Given the description of an element on the screen output the (x, y) to click on. 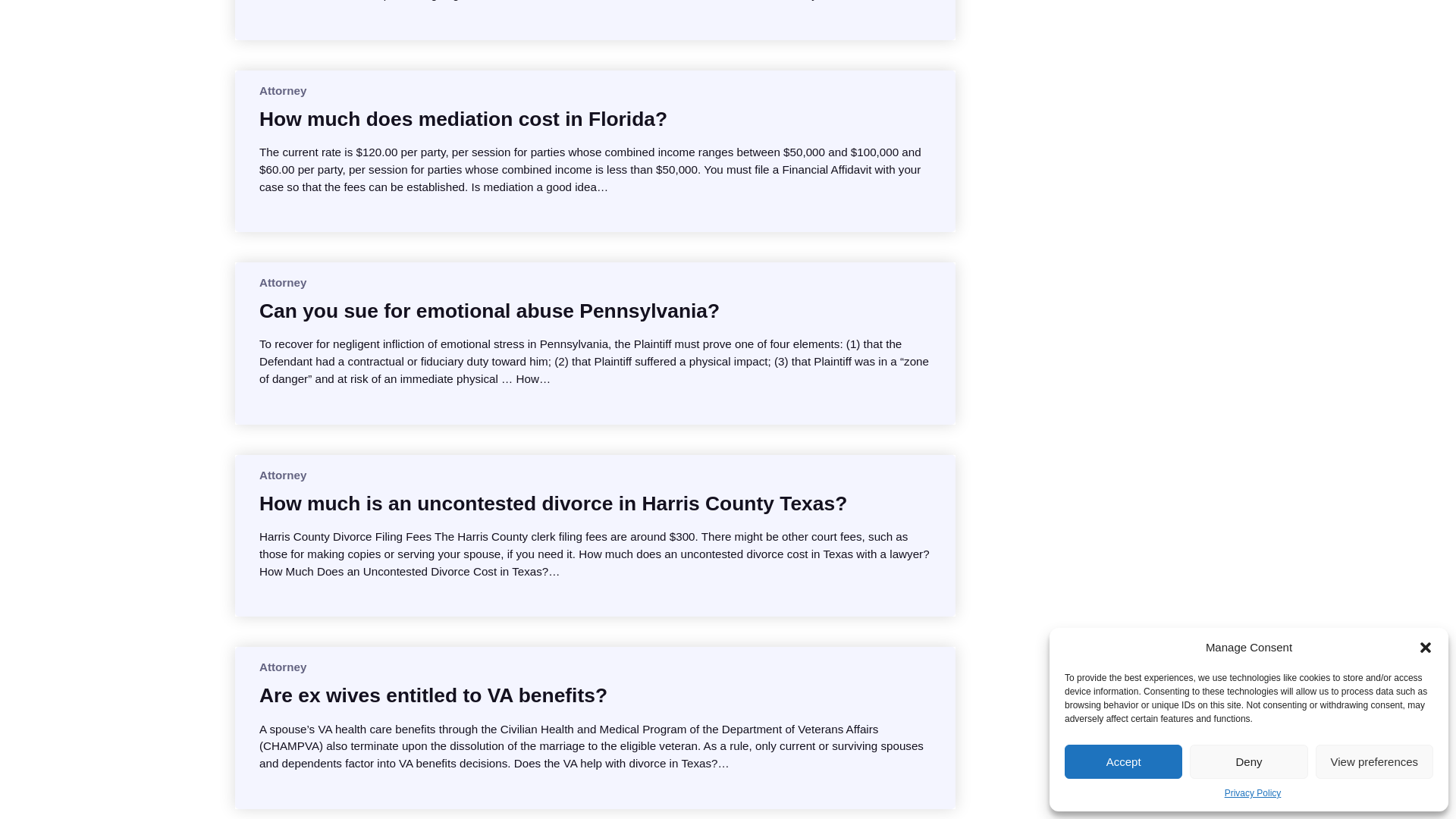
How much does mediation cost in Florida? (462, 118)
Attorney (282, 474)
Advertisement (1106, 70)
Are ex wives entitled to VA benefits? (433, 695)
Attorney (282, 282)
How much is an uncontested divorce in Harris County Texas? (553, 503)
Attorney (282, 90)
Can you sue for emotional abuse Pennsylvania? (489, 310)
Attorney (282, 666)
